Given the description of an element on the screen output the (x, y) to click on. 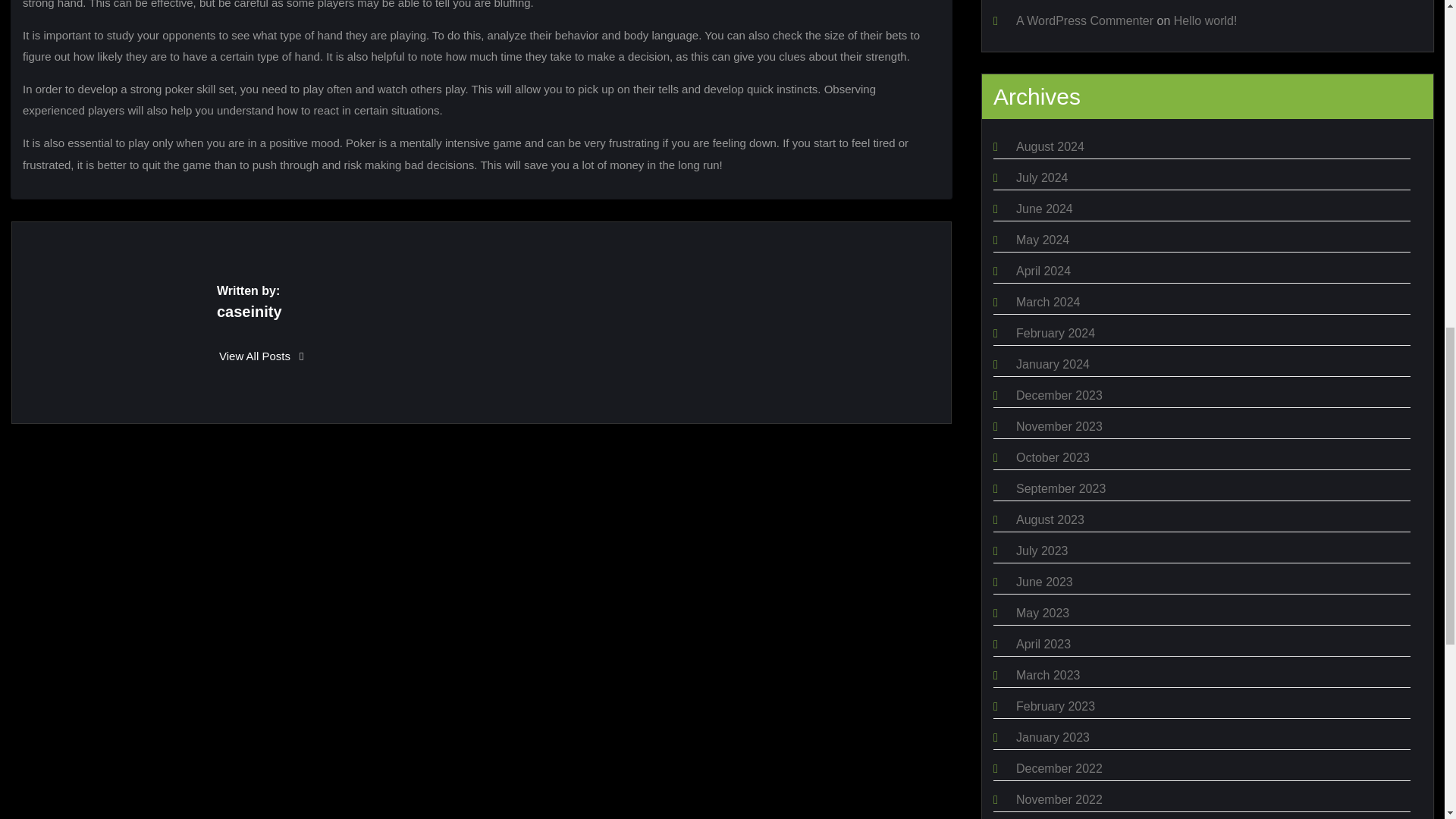
July 2024 (1042, 177)
December 2022 (1059, 768)
February 2023 (1055, 706)
May 2023 (1042, 612)
August 2024 (1050, 146)
April 2024 (1043, 270)
December 2023 (1059, 395)
January 2023 (1052, 737)
October 2023 (1052, 457)
August 2023 (1050, 519)
January 2024 (1052, 364)
November 2022 (1059, 799)
A WordPress Commenter (1084, 20)
February 2024 (1055, 332)
March 2024 (1048, 301)
